Given the description of an element on the screen output the (x, y) to click on. 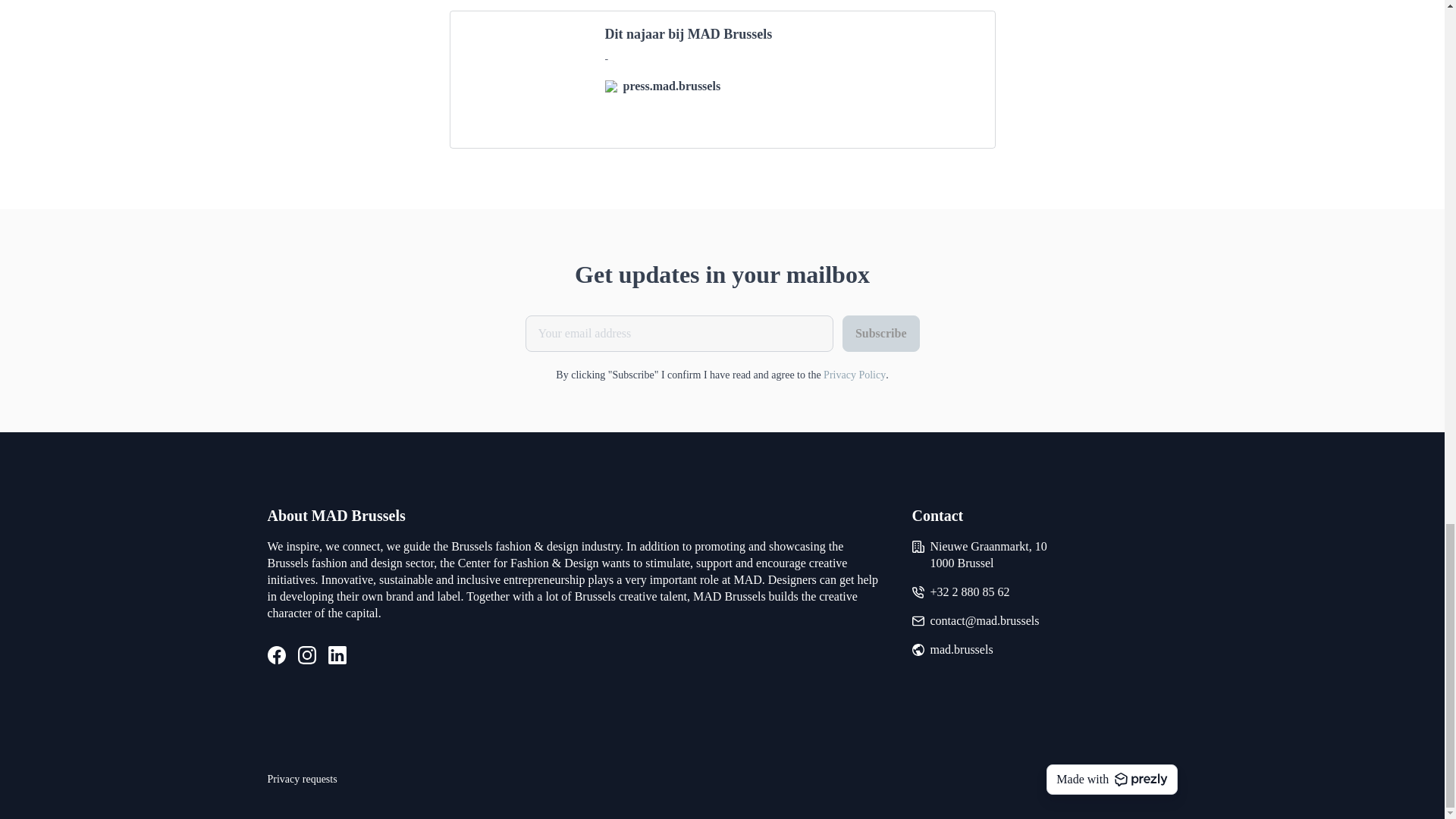
Dit najaar bij MAD Brussels (790, 34)
mad.brussels (961, 649)
Privacy requests (301, 779)
press.mad.brussels (790, 86)
Made with (1111, 779)
Privacy Policy (854, 374)
Subscribe (881, 333)
